Given the description of an element on the screen output the (x, y) to click on. 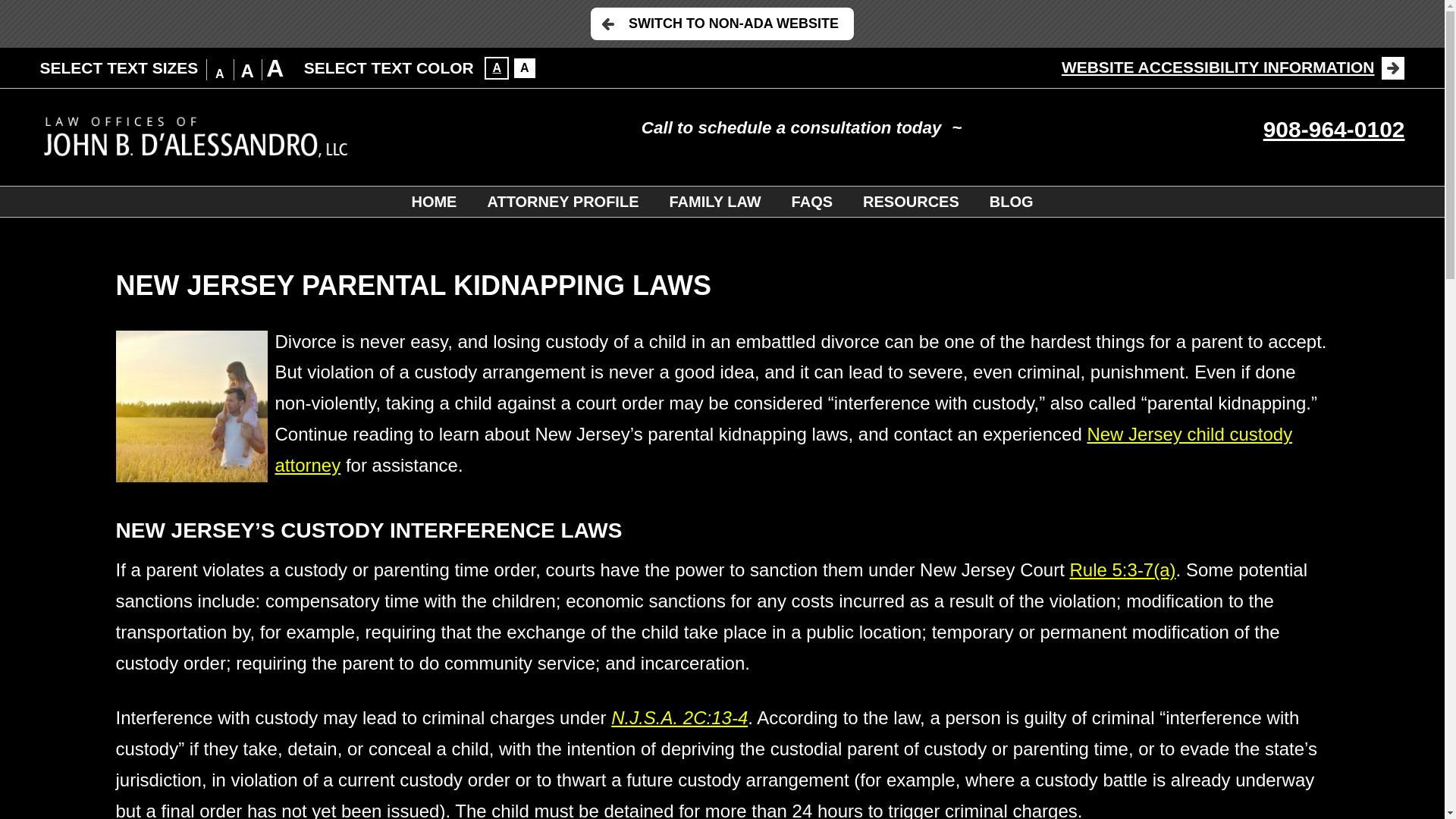
Father takes his daughter in wheat field (190, 406)
SWITCH TO NON-ADA WEBSITE (722, 23)
ATTORNEY PROFILE (562, 201)
A (524, 67)
908-964-0102 (1334, 129)
Invert Colors (496, 67)
Click to view external accessibility article (1233, 67)
FAMILY LAW (714, 201)
WEBSITE ACCESSIBILITY INFORMATION (1233, 67)
A (496, 67)
Invert Colors (524, 67)
HOME (433, 201)
